Given the description of an element on the screen output the (x, y) to click on. 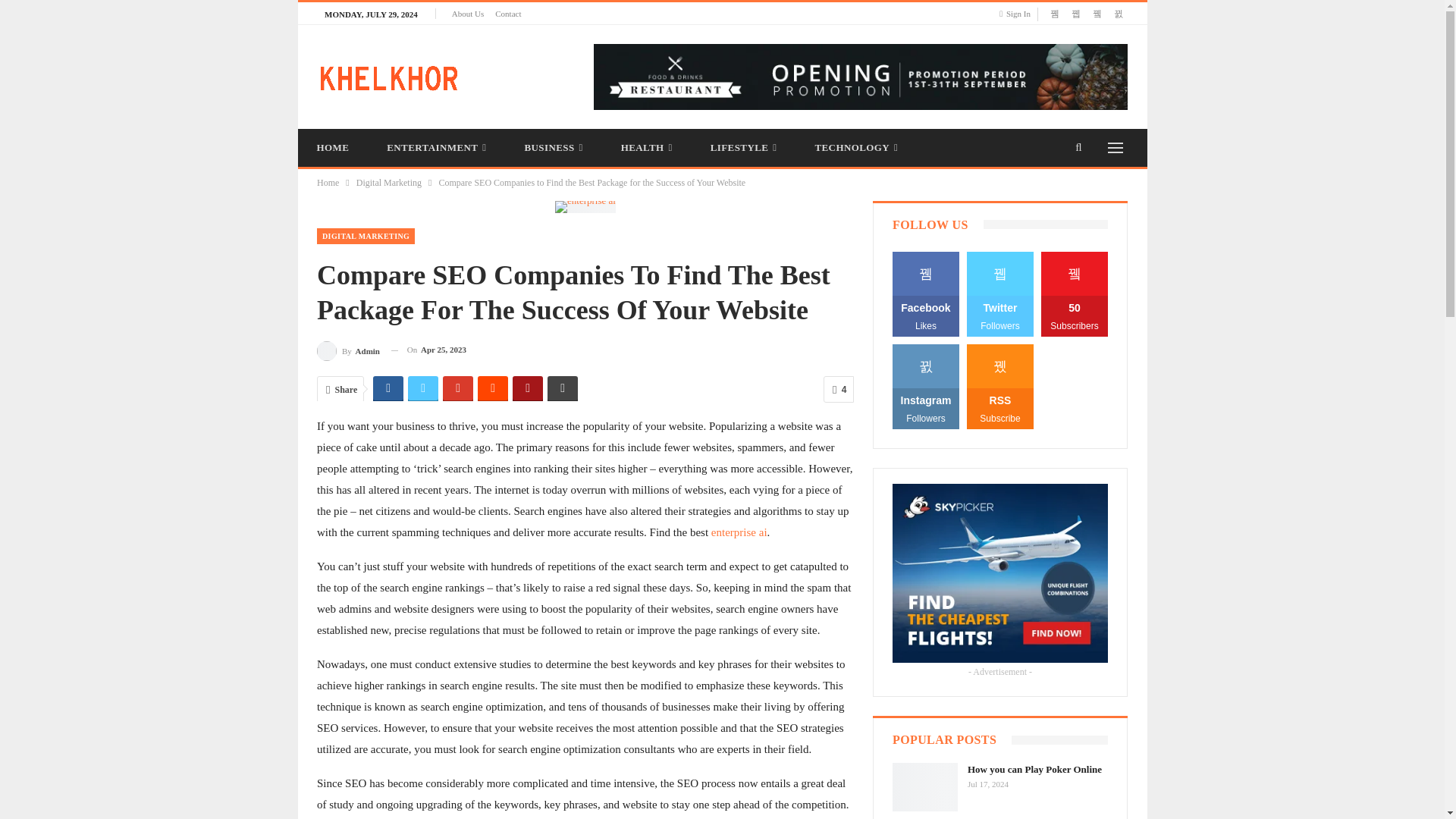
About Us (467, 13)
HOME (332, 147)
Browse Author Articles (348, 349)
How you can Play Poker Online (925, 786)
ENTERTAINMENT (436, 147)
BUSINESS (553, 147)
Sign In (1017, 13)
Contact (508, 13)
